Given the description of an element on the screen output the (x, y) to click on. 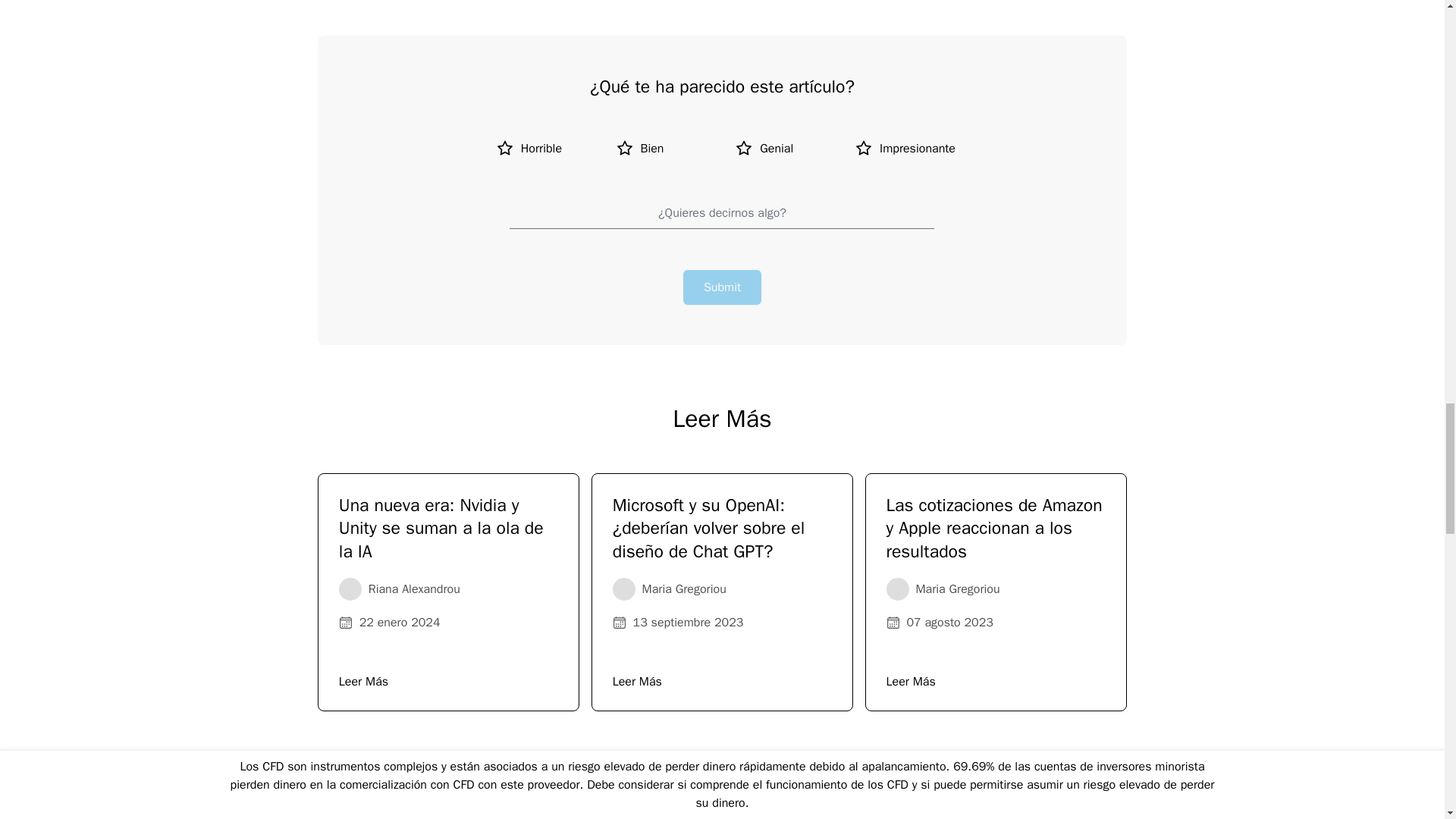
Maria Gregoriou (897, 589)
Riana Alexandrou (350, 589)
Miguel A. Rodriguez (406, 816)
Maria Gregoriou (623, 589)
